Given the description of an element on the screen output the (x, y) to click on. 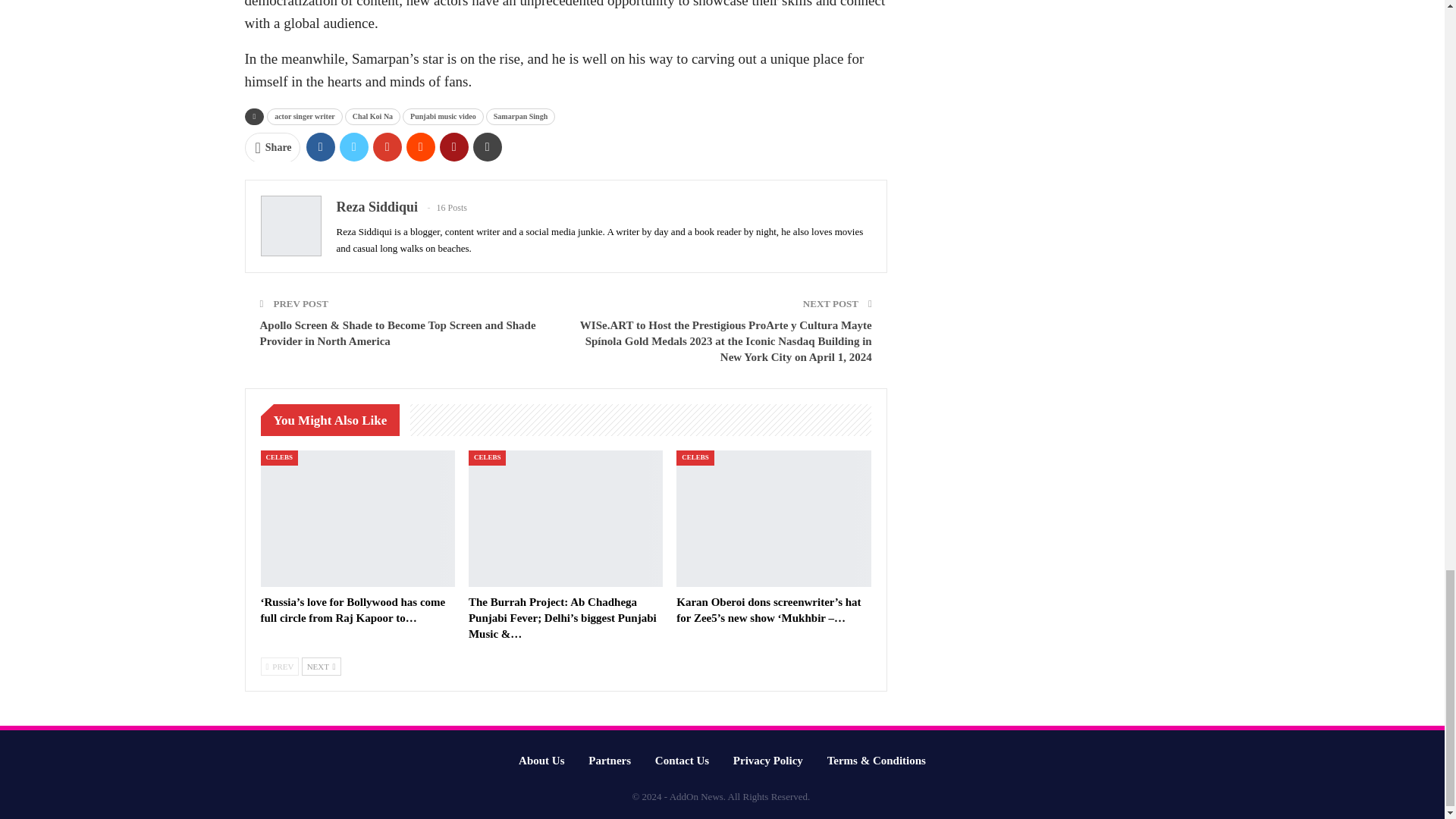
You Might Also Like (334, 420)
Chal Koi Na (372, 116)
Reza Siddiqui (377, 206)
actor singer writer (304, 116)
Previous (279, 666)
Punjabi music video (443, 116)
Samarpan Singh (520, 116)
CELEBS (279, 457)
